Given the description of an element on the screen output the (x, y) to click on. 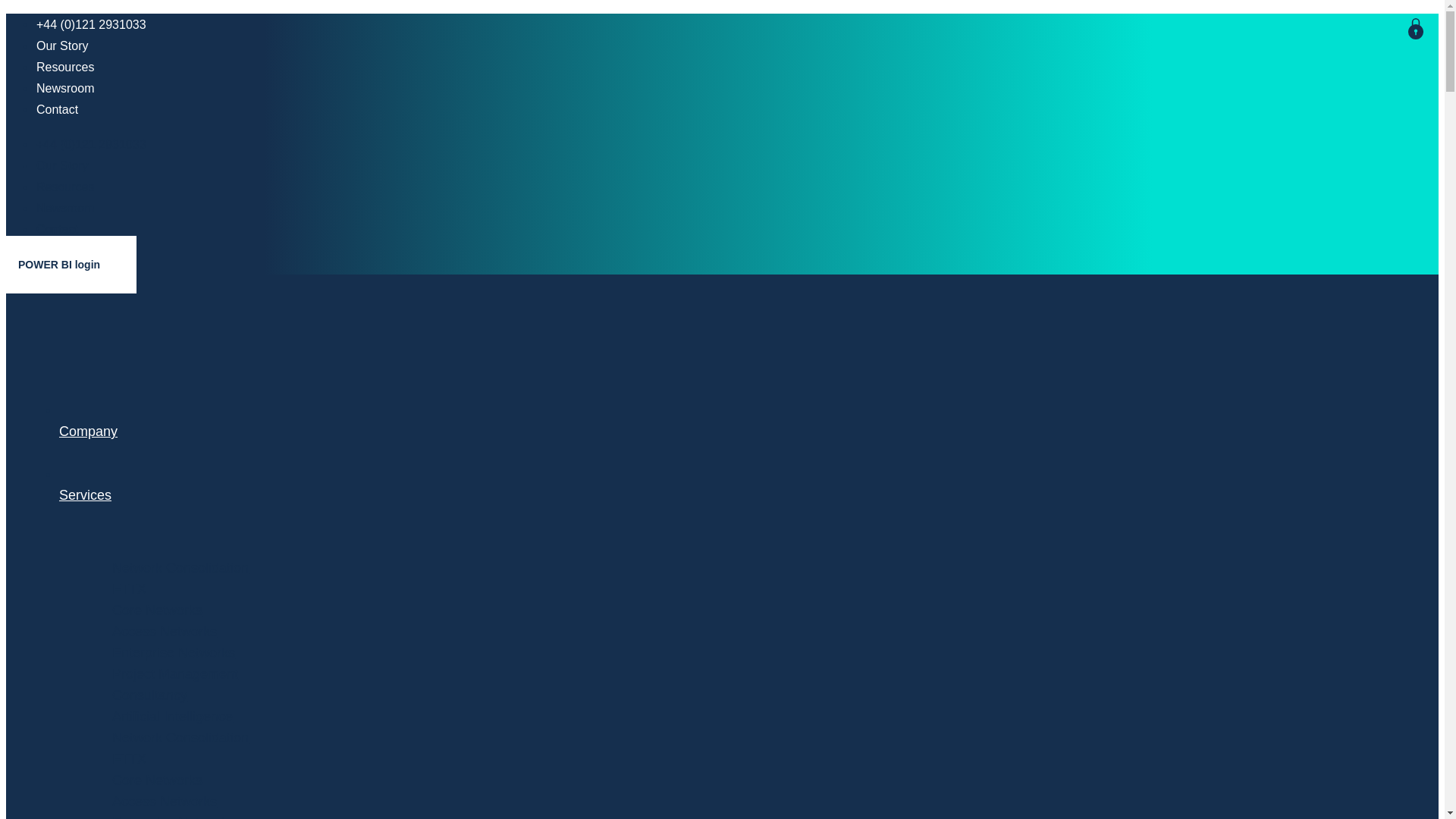
Services (677, 523)
POWER BI login (70, 264)
Company (677, 459)
Network Consolidation (180, 567)
Consultancy (149, 694)
Contact (57, 228)
FTTX (129, 589)
Newsroom (65, 88)
Enterprise Networks (173, 816)
Contact (57, 109)
Project Management (175, 673)
Access Networks (164, 631)
Core Networks (157, 780)
Network Consolidation (180, 737)
Core Networks (157, 610)
